Given the description of an element on the screen output the (x, y) to click on. 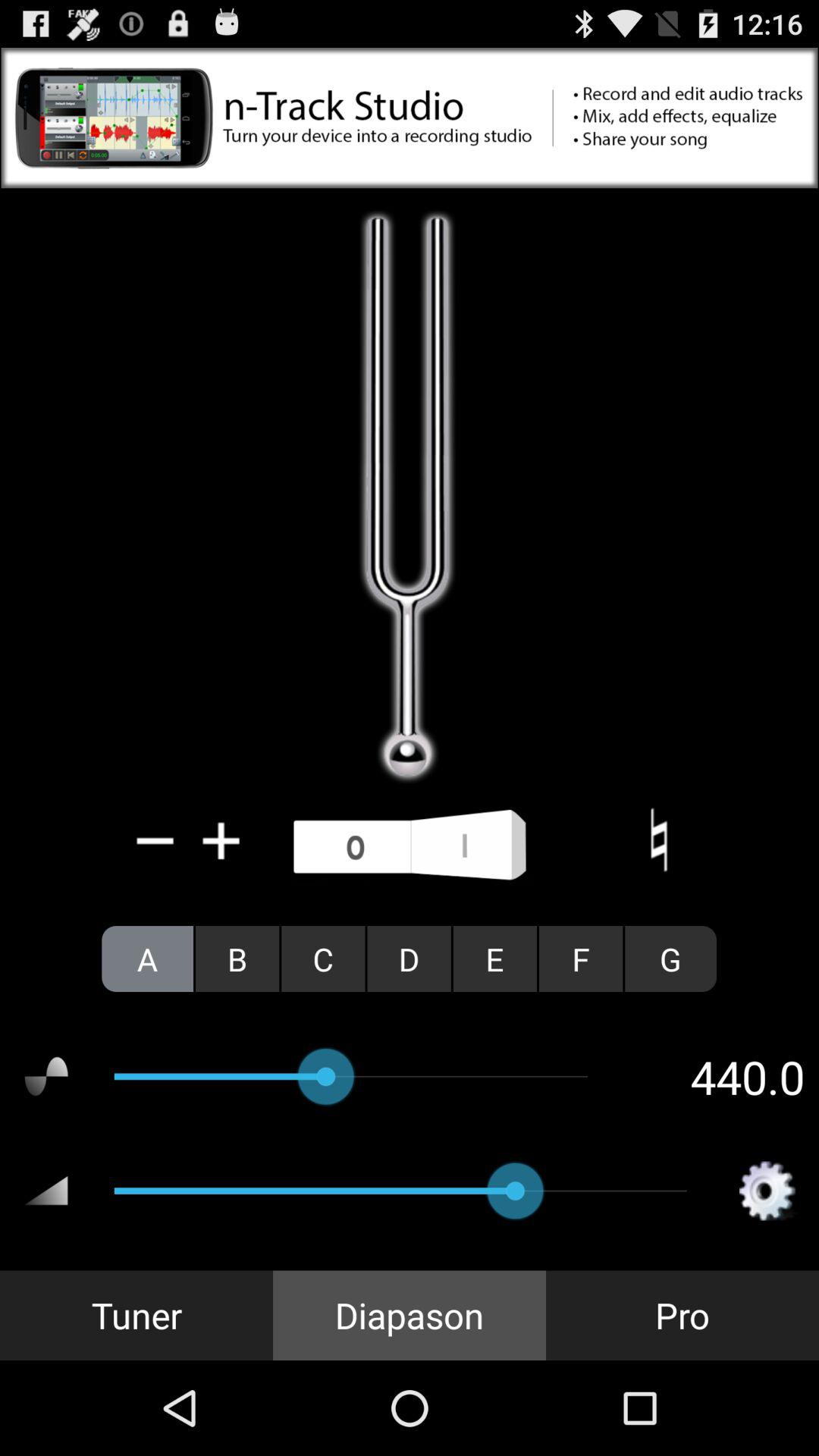
click on advertisement (409, 117)
